Given the description of an element on the screen output the (x, y) to click on. 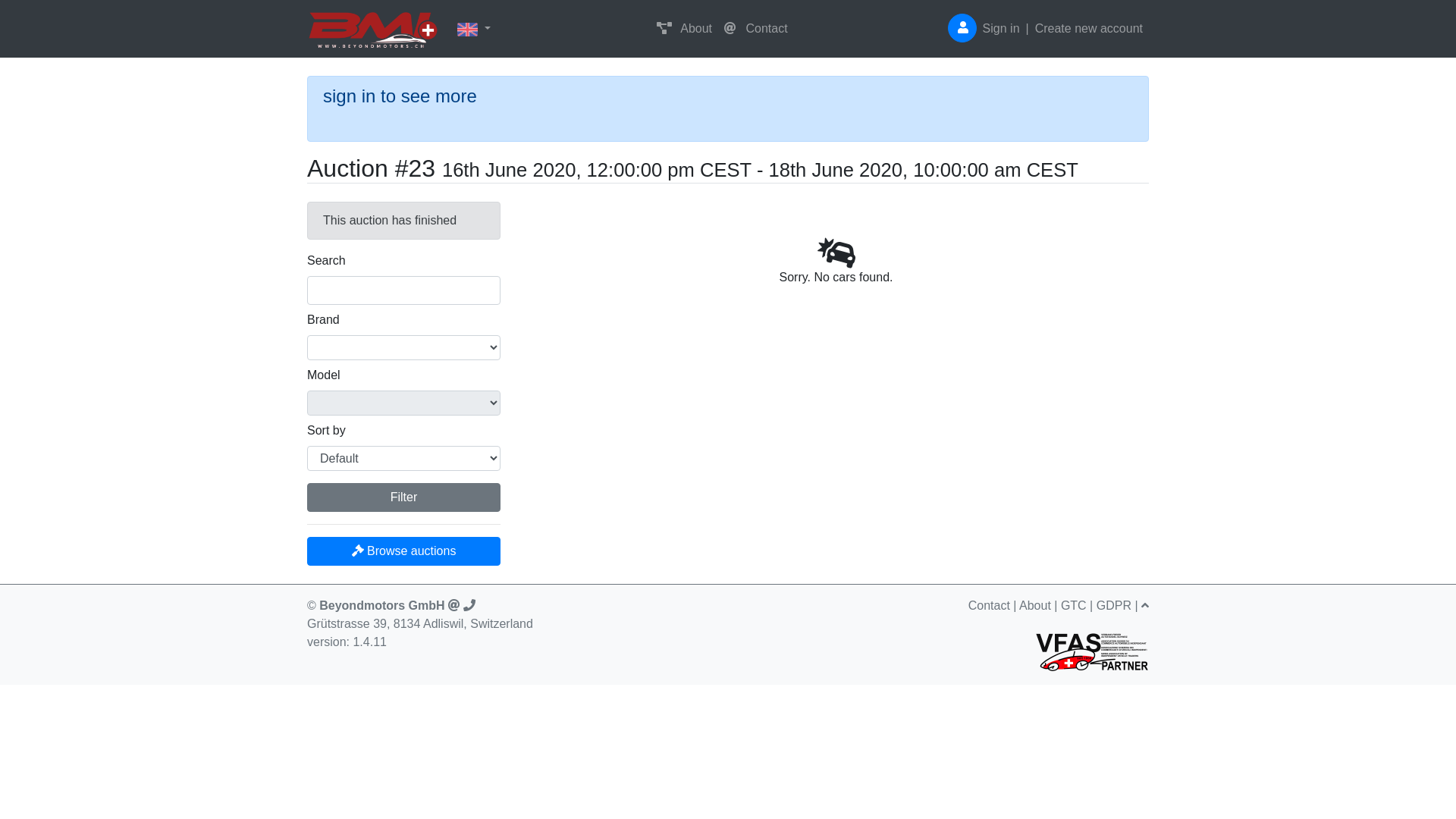
Contact Element type: text (989, 605)
Sign in Element type: text (1001, 28)
About Element type: text (684, 28)
GTC Element type: text (1073, 605)
Create new account Element type: text (1088, 28)
Filter Element type: text (403, 497)
Browse auctions Element type: text (403, 550)
About Element type: text (1035, 605)
GDPR Element type: text (1113, 605)
Contact Element type: text (755, 28)
